Given the description of an element on the screen output the (x, y) to click on. 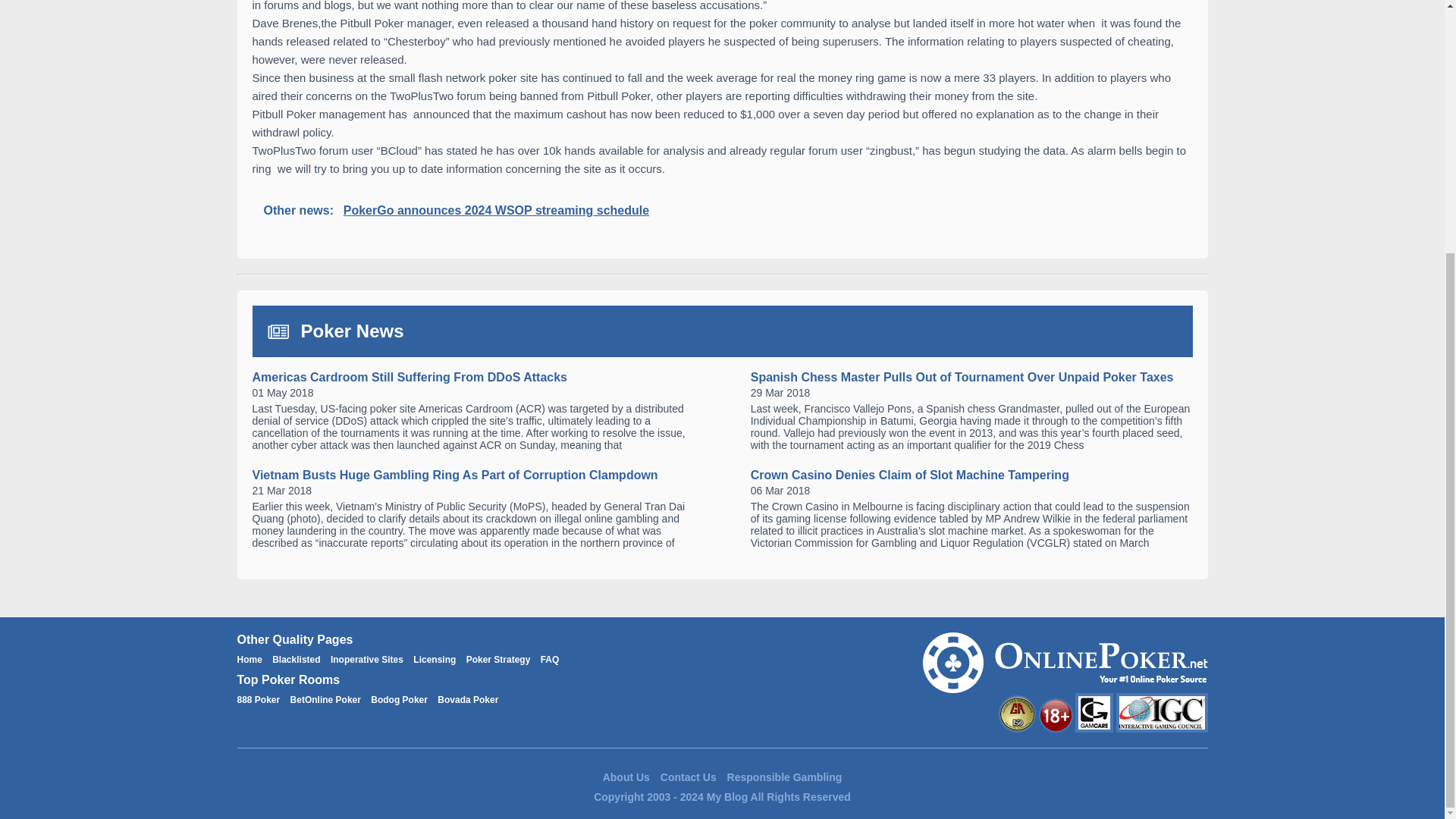
Americas Cardroom Still Suffering From DDoS Attacks (409, 377)
Crown Casino Denies Claim of Slot Machine Tampering (909, 474)
Other news:   PokerGo announces 2024 WSOP streaming schedule (721, 210)
